Given the description of an element on the screen output the (x, y) to click on. 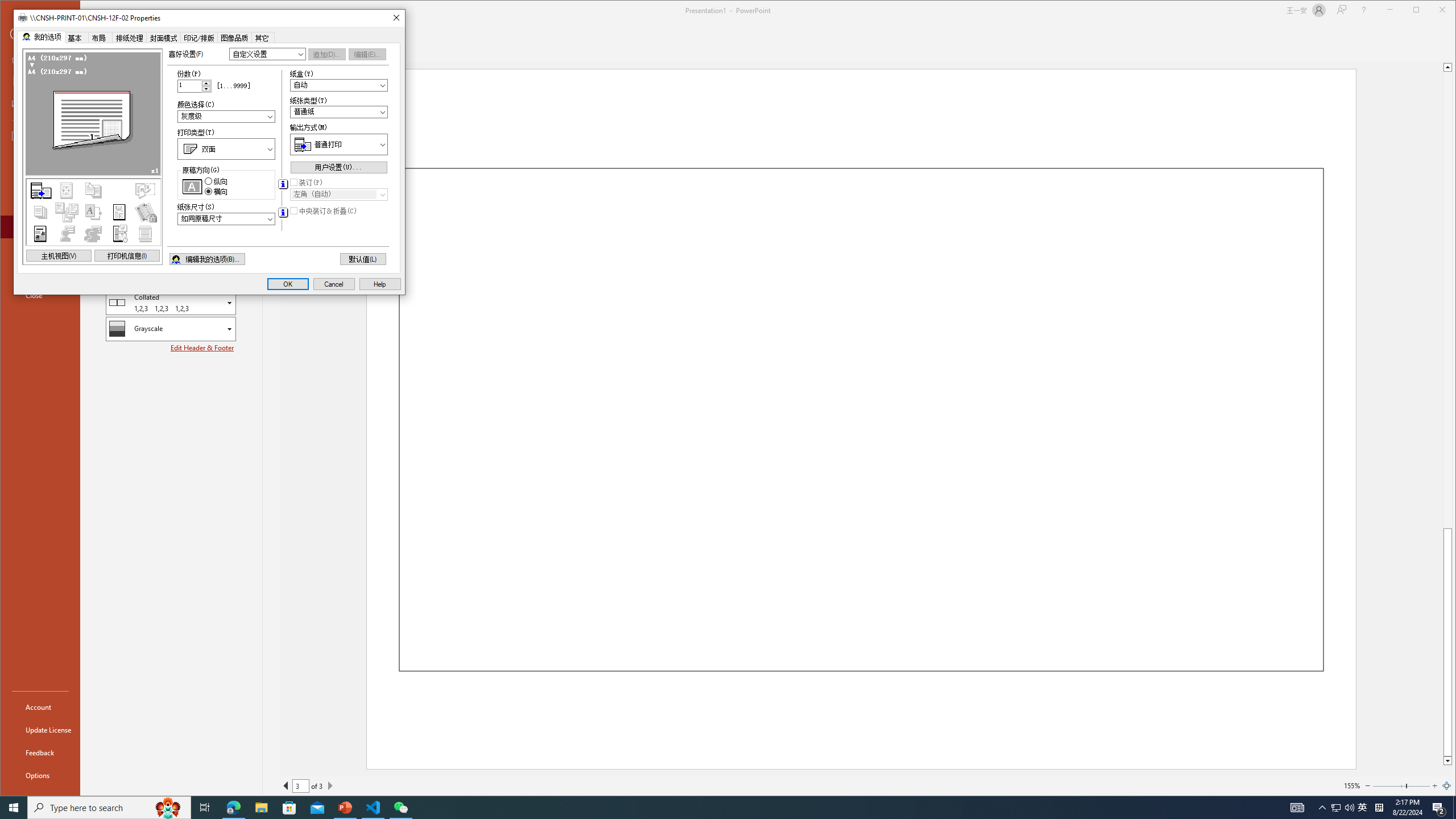
Feedback (40, 752)
Color/Grayscale (170, 328)
Class: NetUIScrollBar (1447, 413)
AutomationID: 1040 (226, 218)
Line up (1447, 67)
Previous Page (285, 785)
AutomationID: 2197 (282, 183)
